Given the description of an element on the screen output the (x, y) to click on. 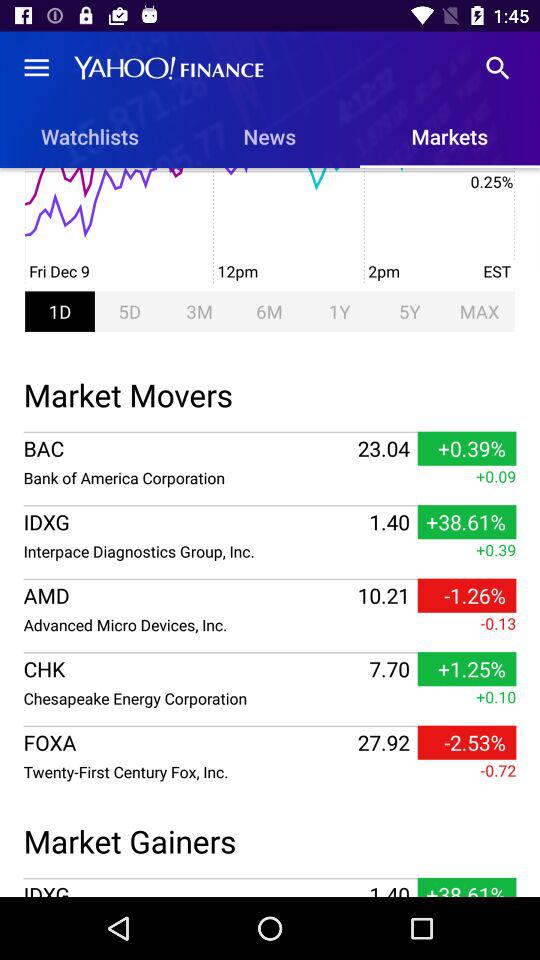
turn off item above the watchlists (36, 68)
